Given the description of an element on the screen output the (x, y) to click on. 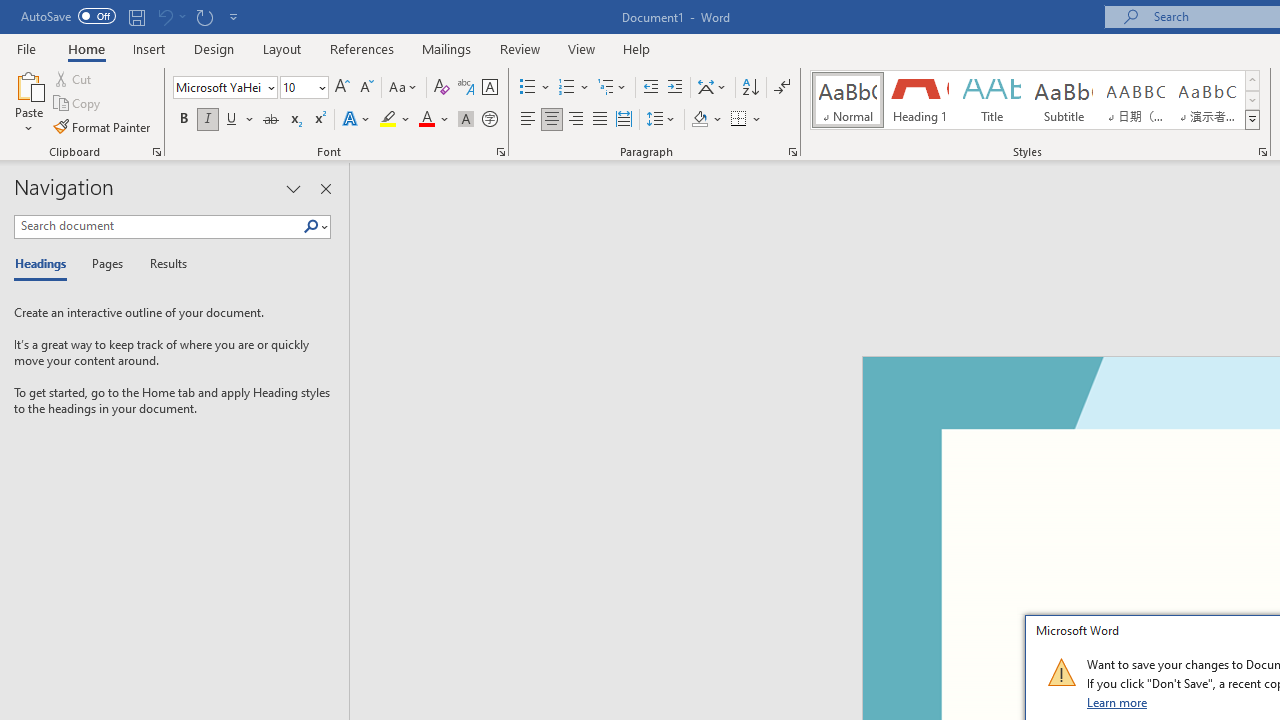
Subtitle (1063, 100)
